Given the description of an element on the screen output the (x, y) to click on. 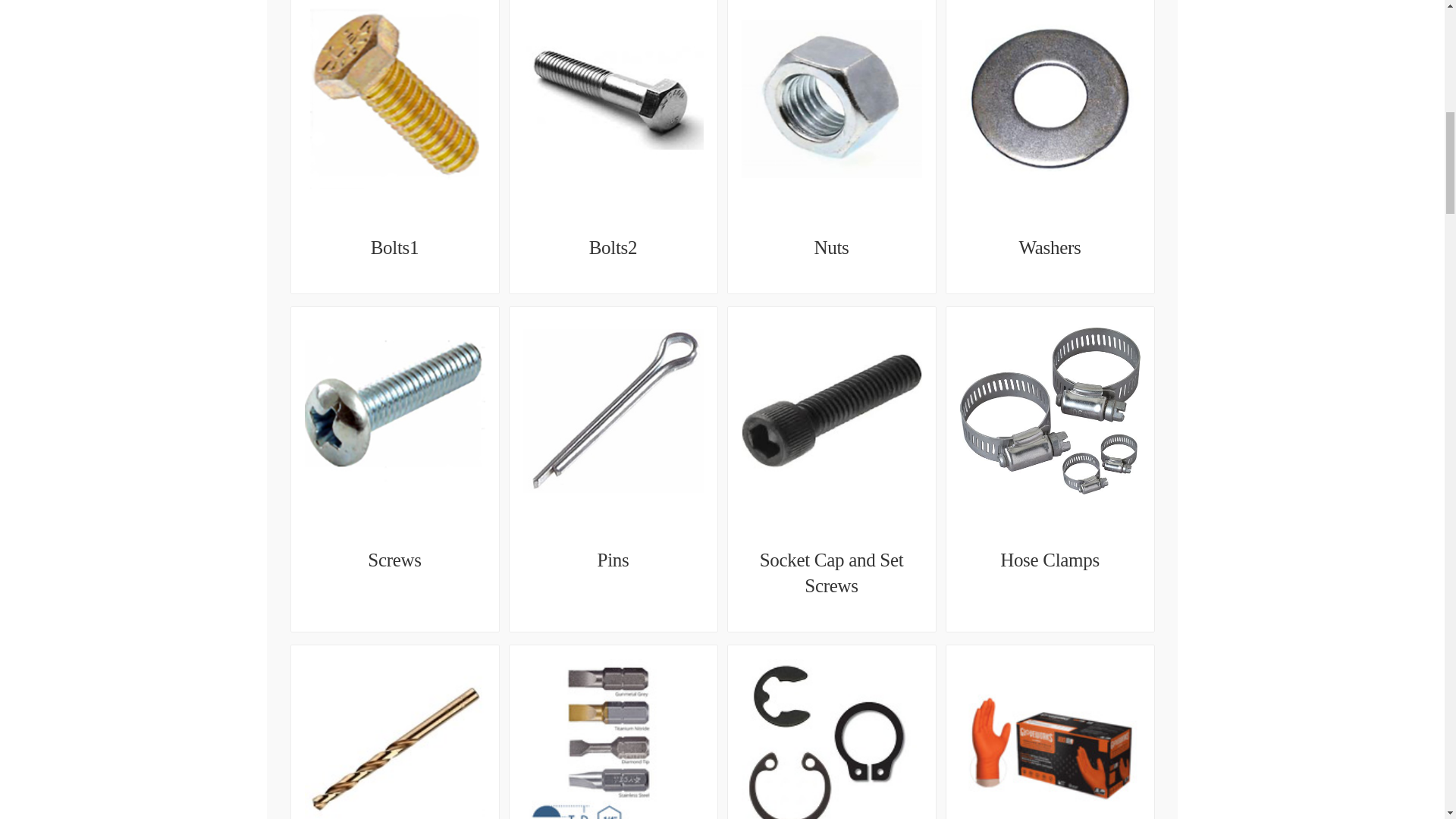
Washers (1049, 248)
Pins (612, 560)
Hose Clamps (1049, 560)
Bolts1 (394, 248)
Bolts2 (612, 248)
Nuts (831, 248)
Socket Cap and Set Screws (831, 572)
Screws (394, 560)
